Given the description of an element on the screen output the (x, y) to click on. 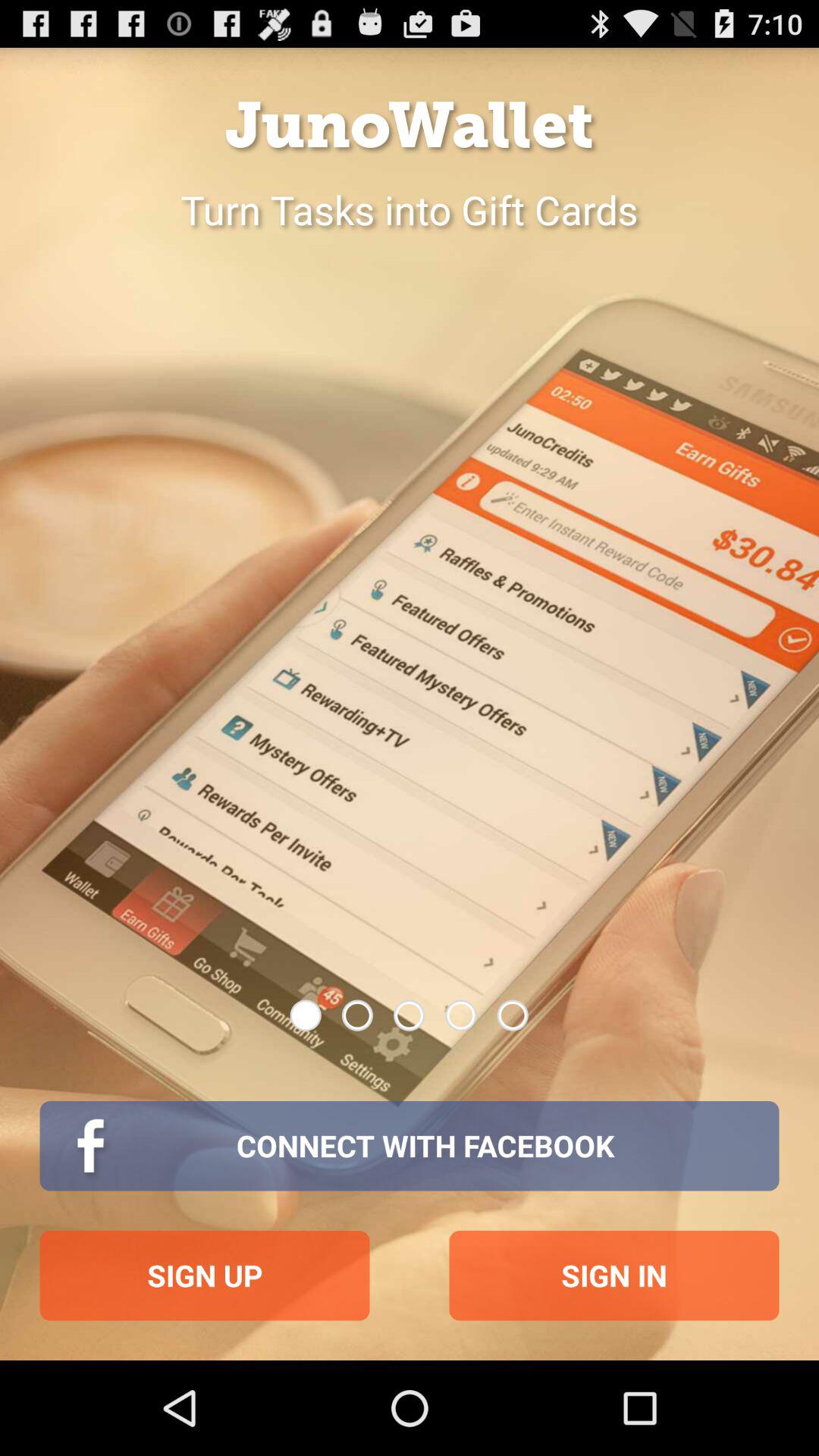
scroll to sign in item (614, 1275)
